Given the description of an element on the screen output the (x, y) to click on. 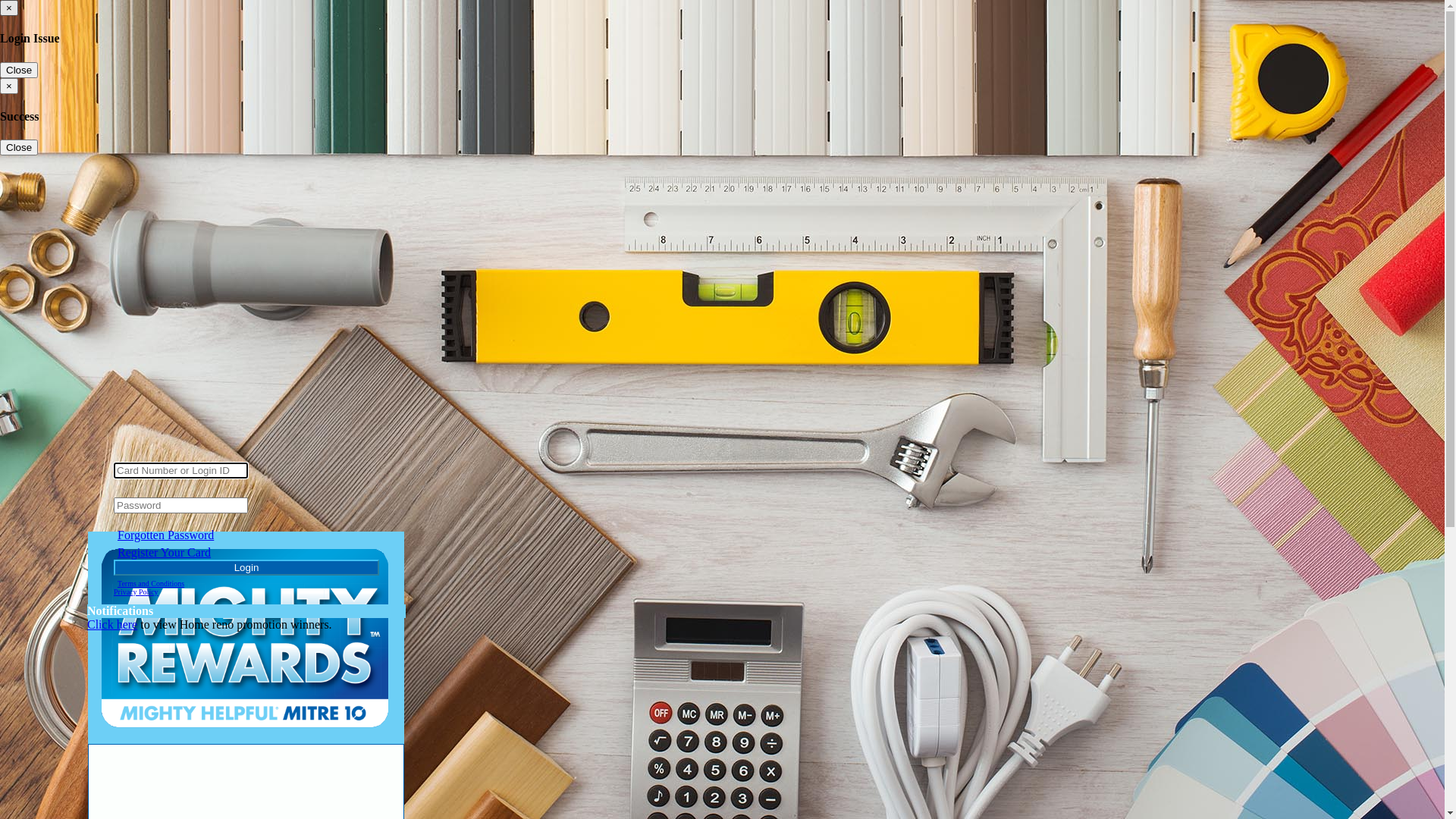
Register Your Card Element type: text (163, 552)
Forgotten Password Element type: text (165, 534)
Privacy Policy Element type: text (135, 591)
Click here Element type: text (112, 624)
Close Element type: text (18, 147)
Close Element type: text (18, 70)
Terms and Conditions Element type: text (150, 583)
Login Element type: text (246, 567)
